Given the description of an element on the screen output the (x, y) to click on. 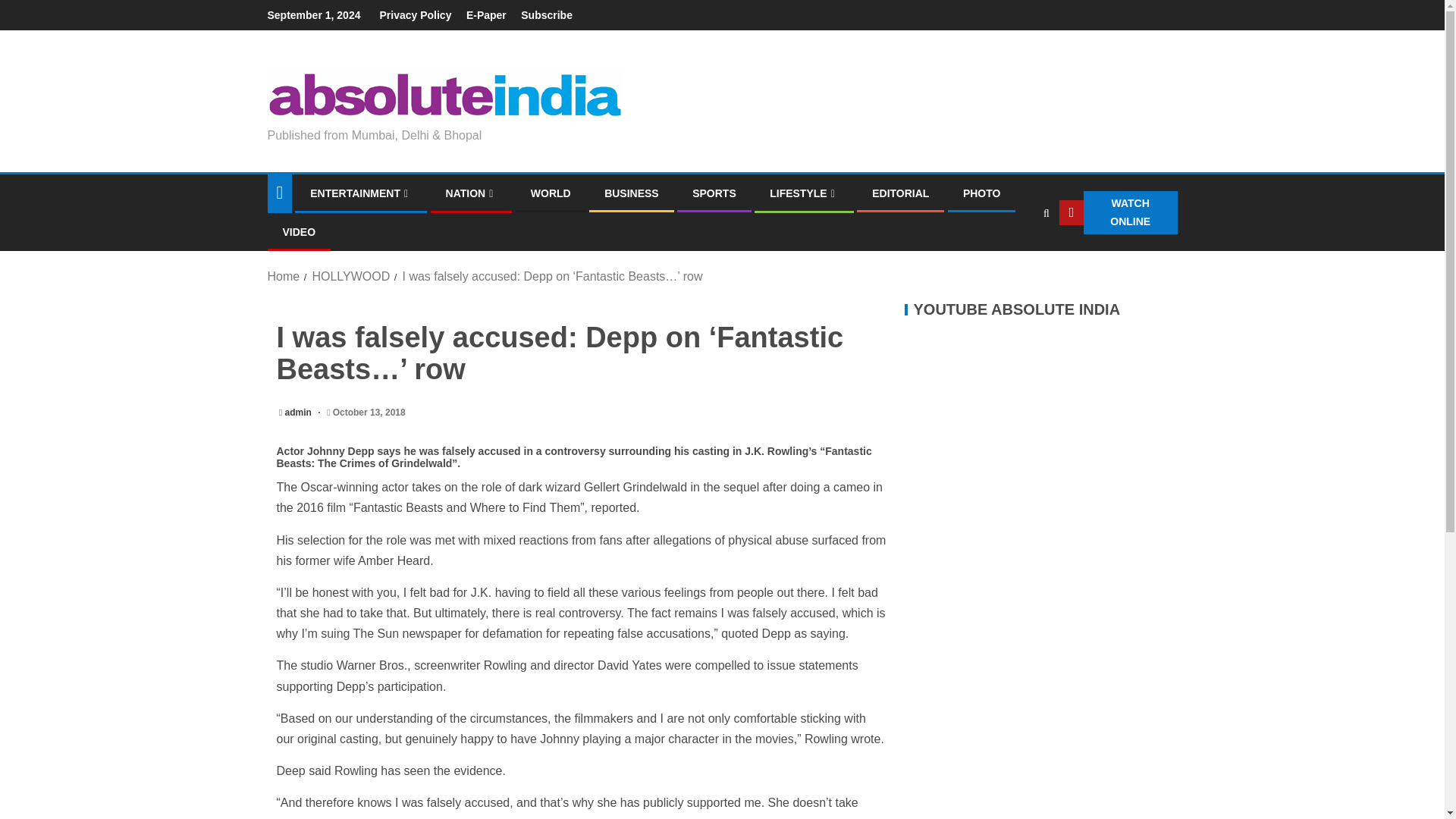
E-Paper (485, 15)
EDITORIAL (900, 193)
Privacy Policy (414, 15)
PHOTO (981, 193)
Search (1016, 258)
NATION (471, 193)
BUSINESS (631, 193)
HOLLYWOOD (350, 276)
Subscribe (546, 15)
LIFESTYLE (804, 193)
